Given the description of an element on the screen output the (x, y) to click on. 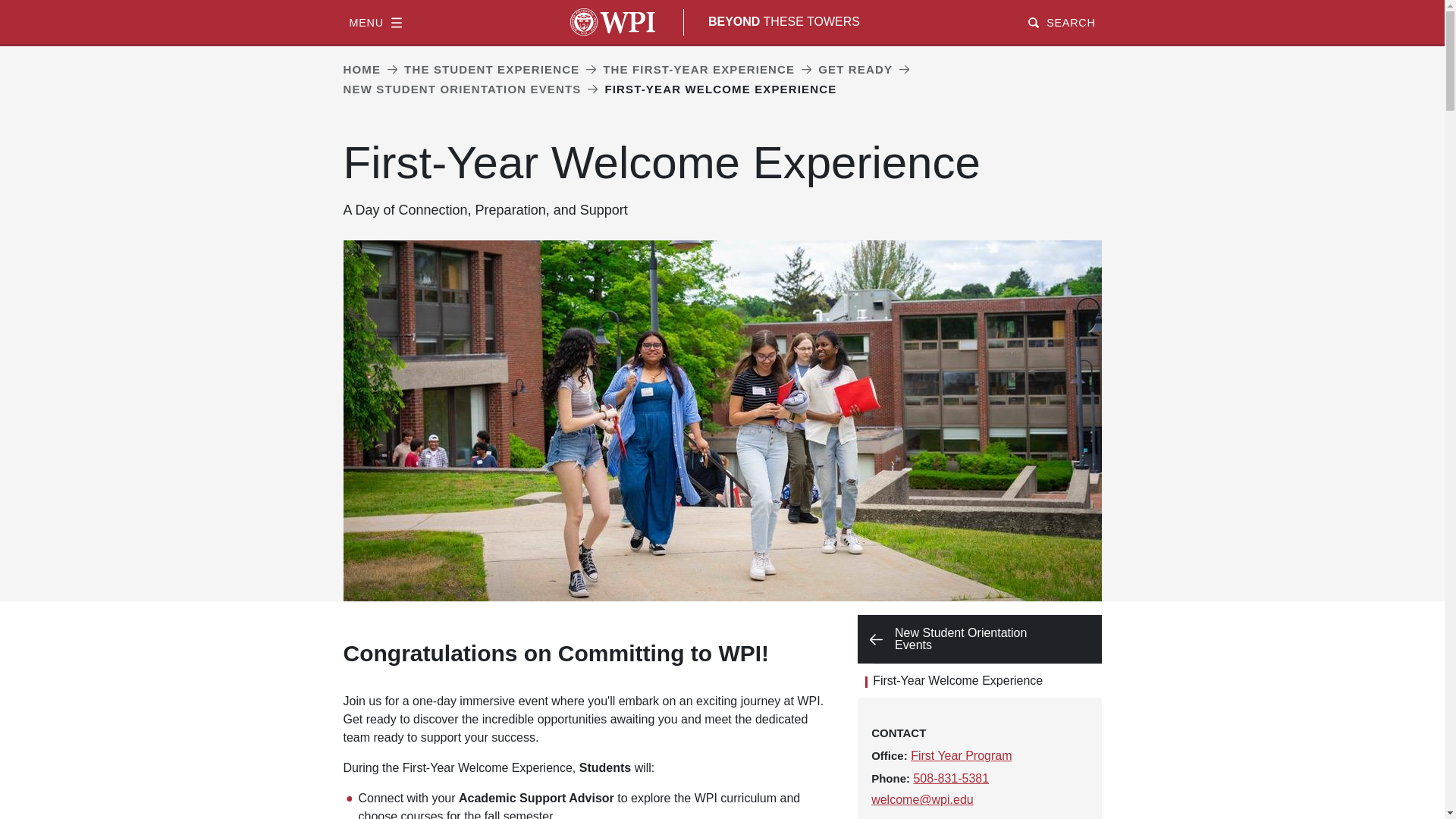
MENU (374, 21)
SEARCH (1061, 21)
Skip to main content (721, 1)
BEYOND THESE TOWERS (783, 21)
WPI Home (612, 22)
